Given the description of an element on the screen output the (x, y) to click on. 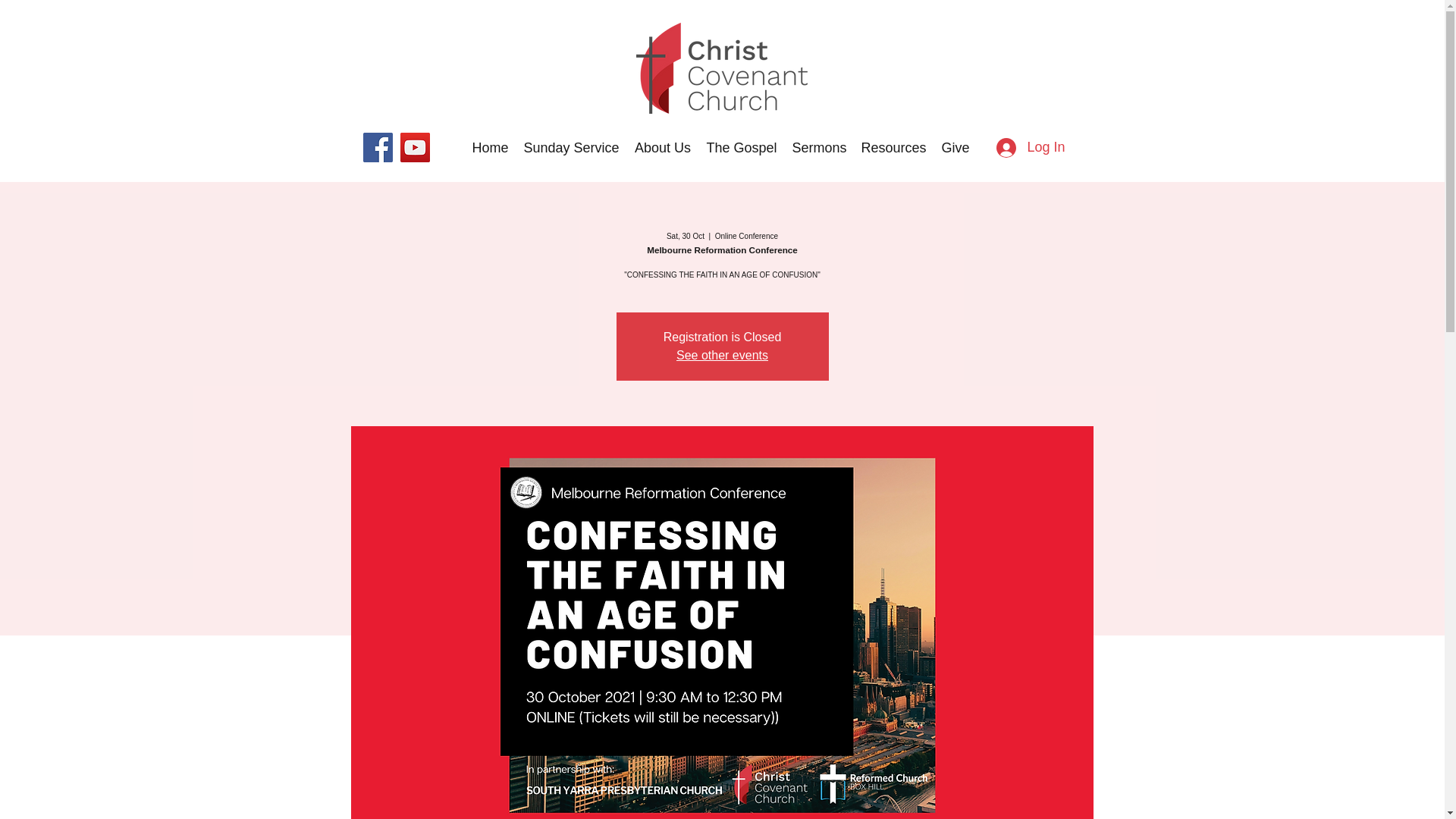
Resources (893, 147)
See other events (722, 354)
About Us (662, 147)
Sunday Service (570, 147)
The Gospel (741, 147)
Give (954, 147)
Sermons (818, 147)
Home (489, 147)
Log In (1030, 147)
